Given the description of an element on the screen output the (x, y) to click on. 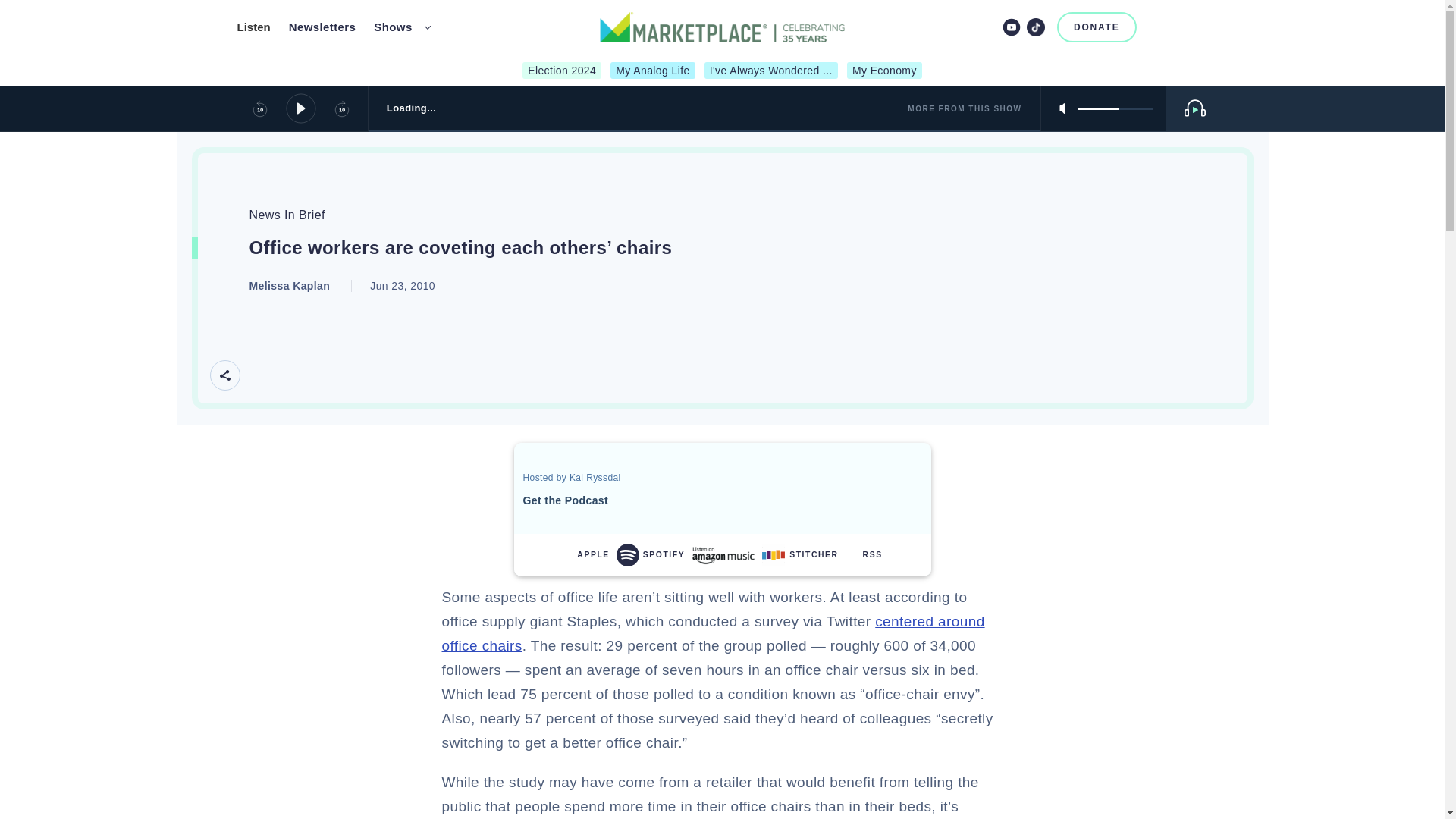
volume (1115, 108)
DONATE (1097, 27)
Menu (1198, 27)
Search (1164, 27)
Listen (252, 26)
5 (1115, 108)
TikTok (1035, 27)
Youtube (1011, 27)
Facebook (962, 27)
Newsletters (322, 27)
Shows (393, 26)
Instagram (985, 27)
